Given the description of an element on the screen output the (x, y) to click on. 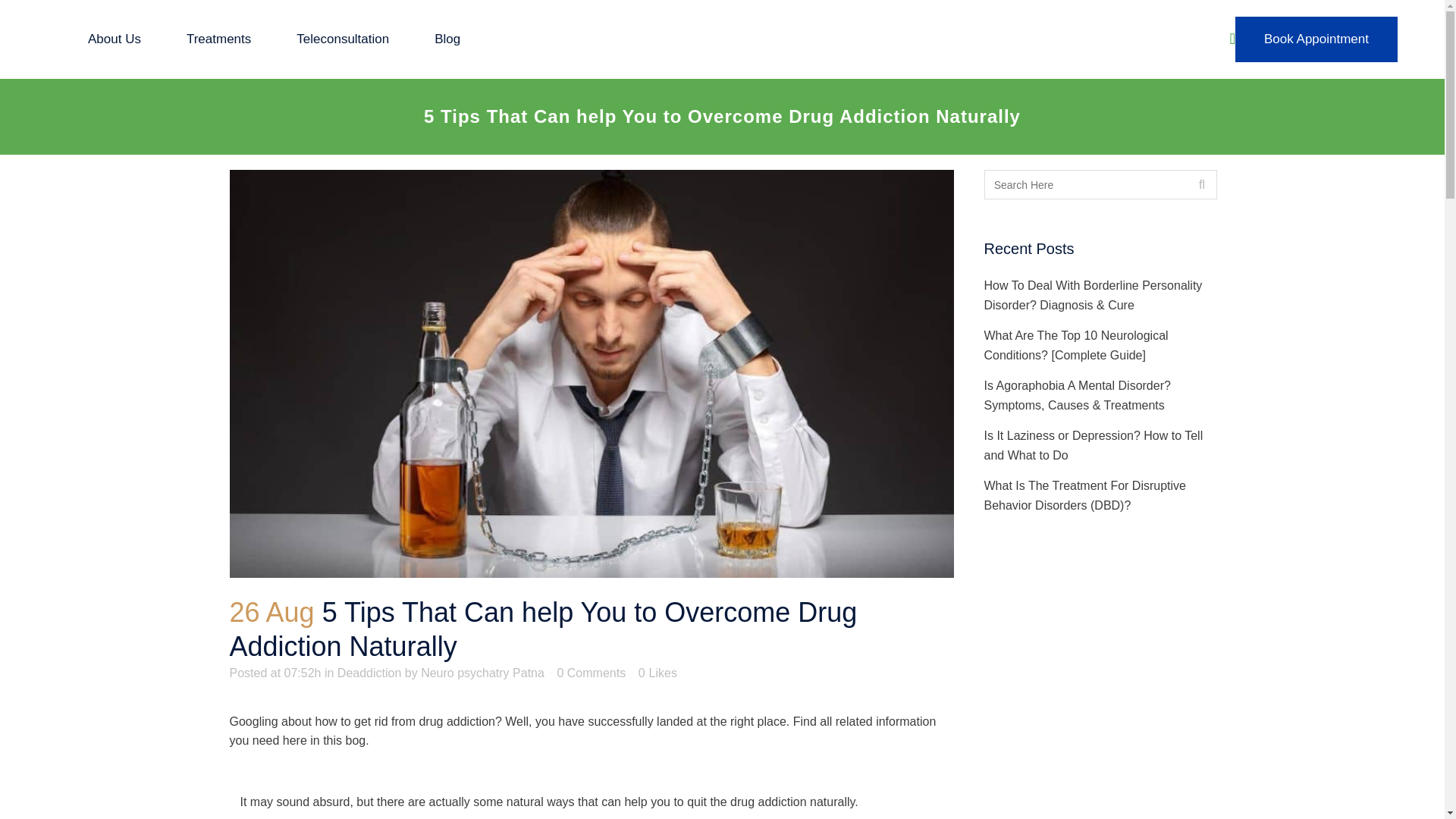
Deaddiction (369, 672)
Teleconsultation (342, 39)
Blog (447, 39)
Book Appointment (1315, 39)
About Us (114, 39)
Treatments (218, 39)
Like this (658, 673)
Neuro psychatry Patna (482, 672)
0 Comments (591, 672)
